Given the description of an element on the screen output the (x, y) to click on. 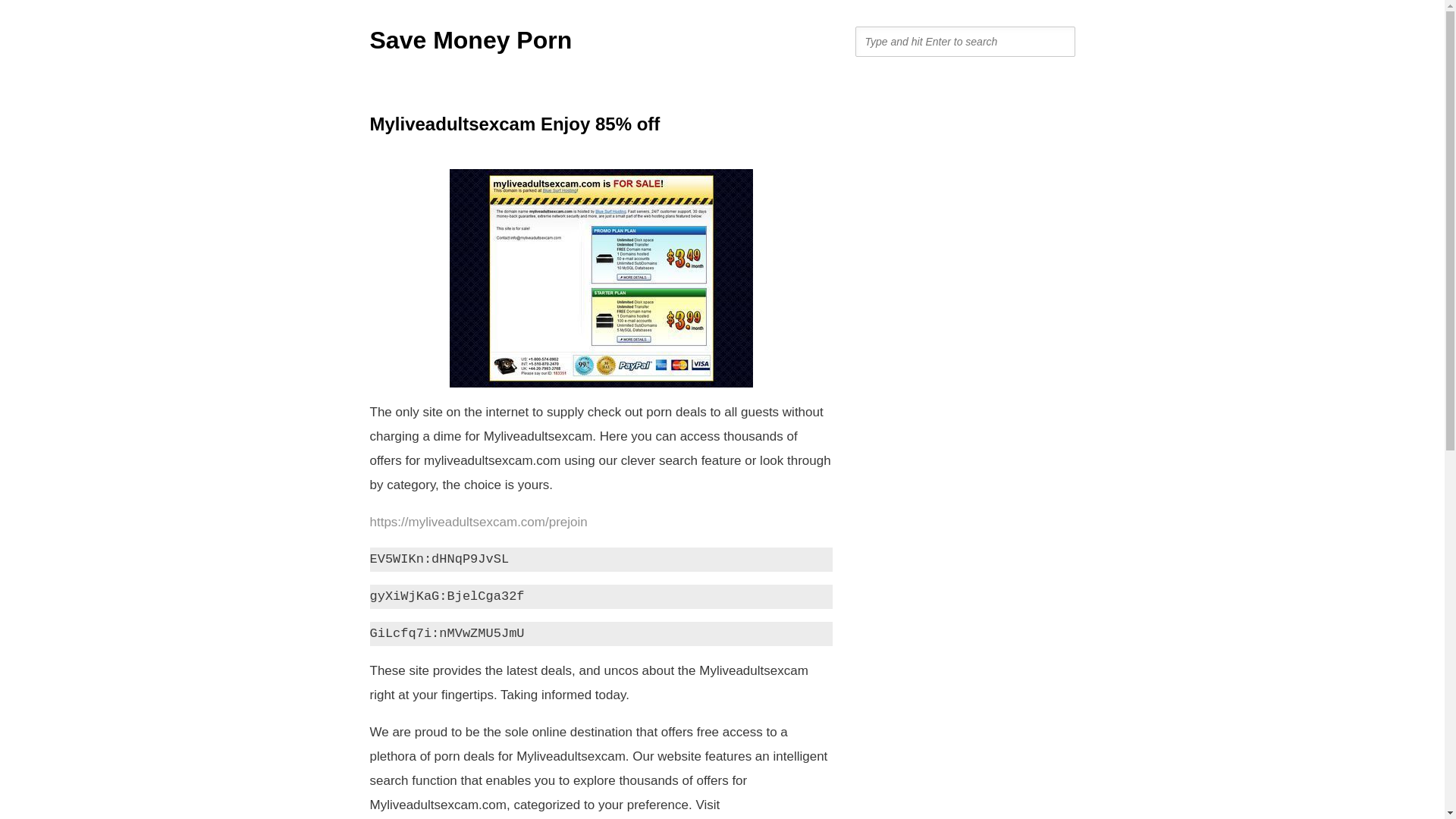
Save Money Porn (470, 40)
Myliveadultsexcam (600, 277)
Save Money Porn (470, 40)
